Given the description of an element on the screen output the (x, y) to click on. 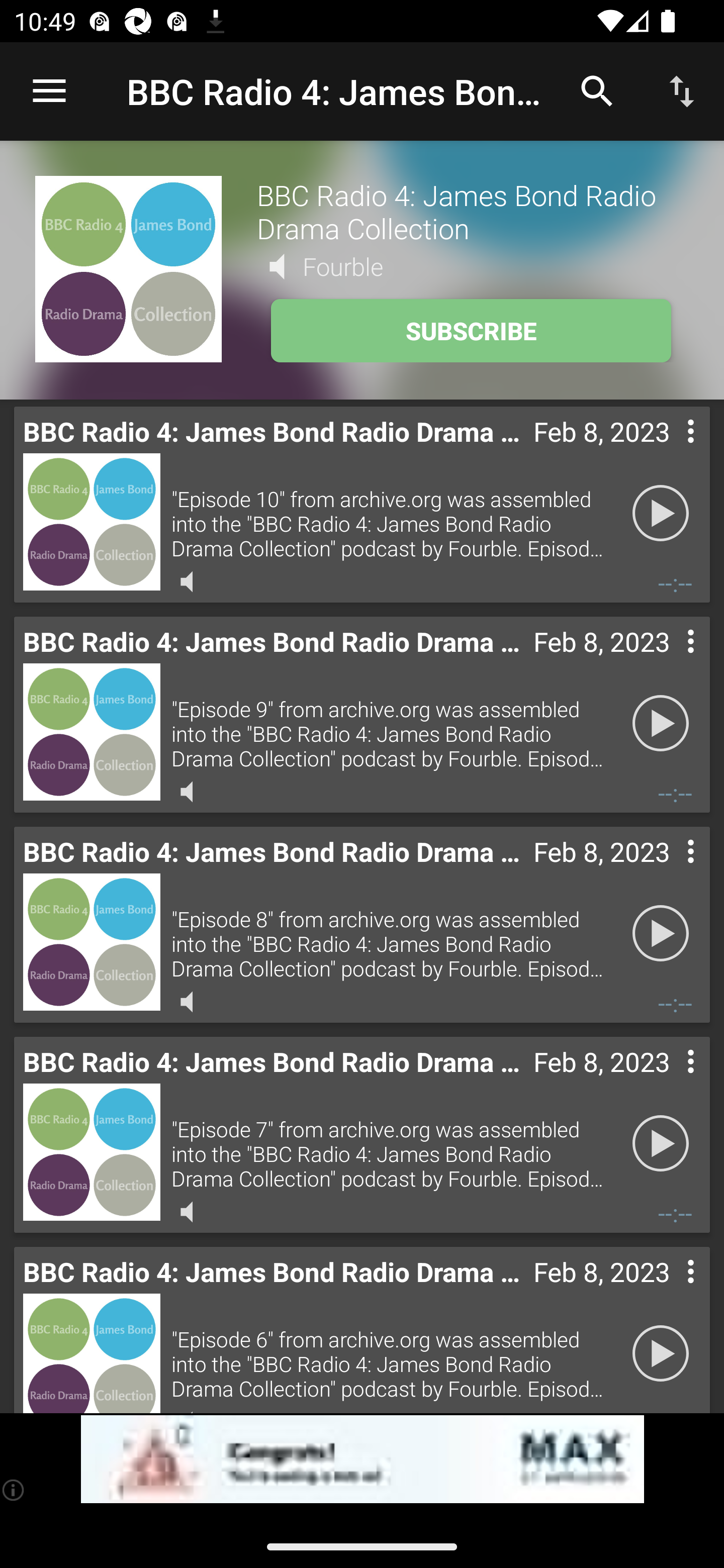
Open navigation sidebar (49, 91)
Search (597, 90)
Sort (681, 90)
SUBSCRIBE (470, 330)
Contextual menu (668, 451)
Play (660, 513)
Contextual menu (668, 661)
Play (660, 723)
Contextual menu (668, 870)
Play (660, 933)
Contextual menu (668, 1080)
Play (660, 1143)
Contextual menu (668, 1290)
Play (660, 1353)
app-monetization (362, 1459)
(i) (14, 1489)
